Given the description of an element on the screen output the (x, y) to click on. 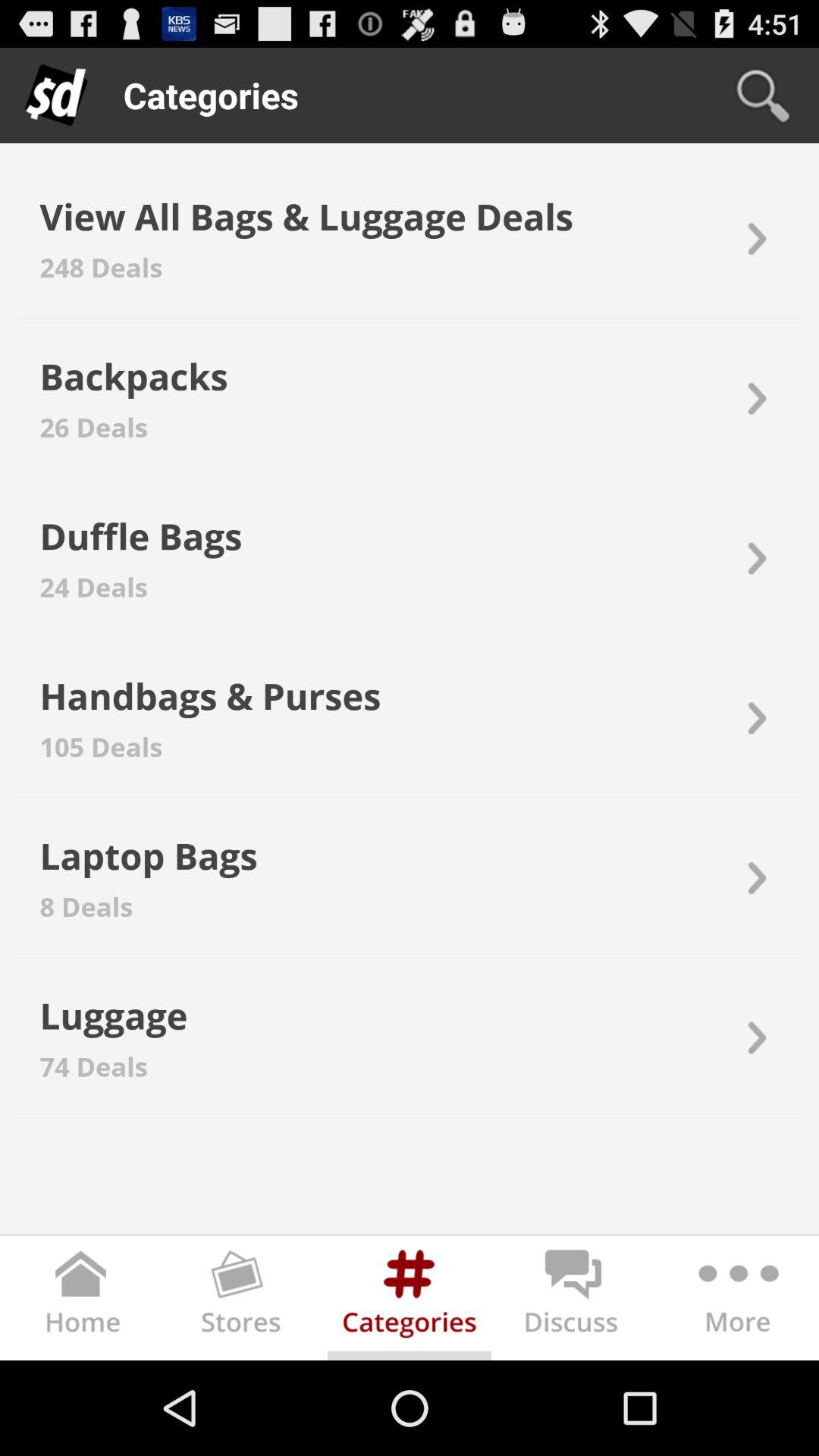
go to home (81, 1301)
